Given the description of an element on the screen output the (x, y) to click on. 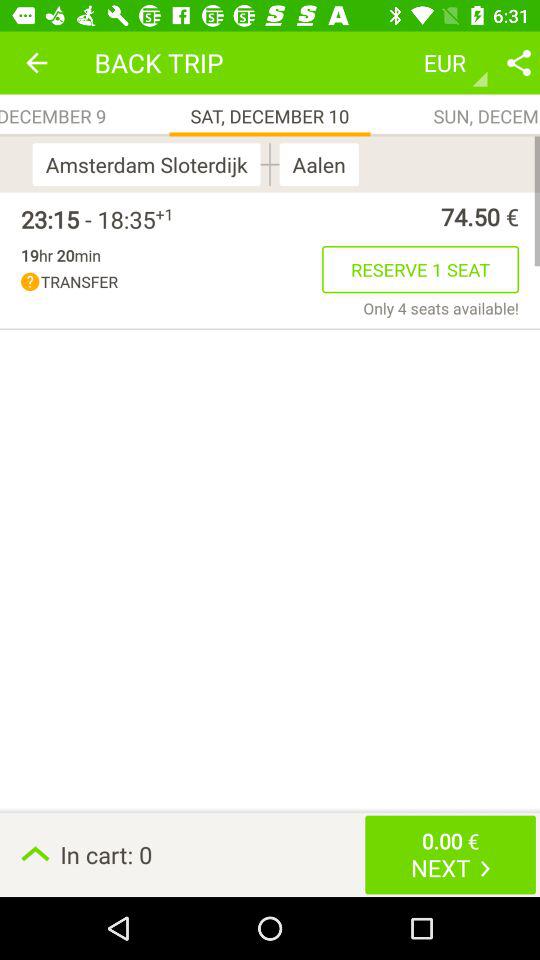
turn off item next to reserve 1 seat (171, 281)
